Given the description of an element on the screen output the (x, y) to click on. 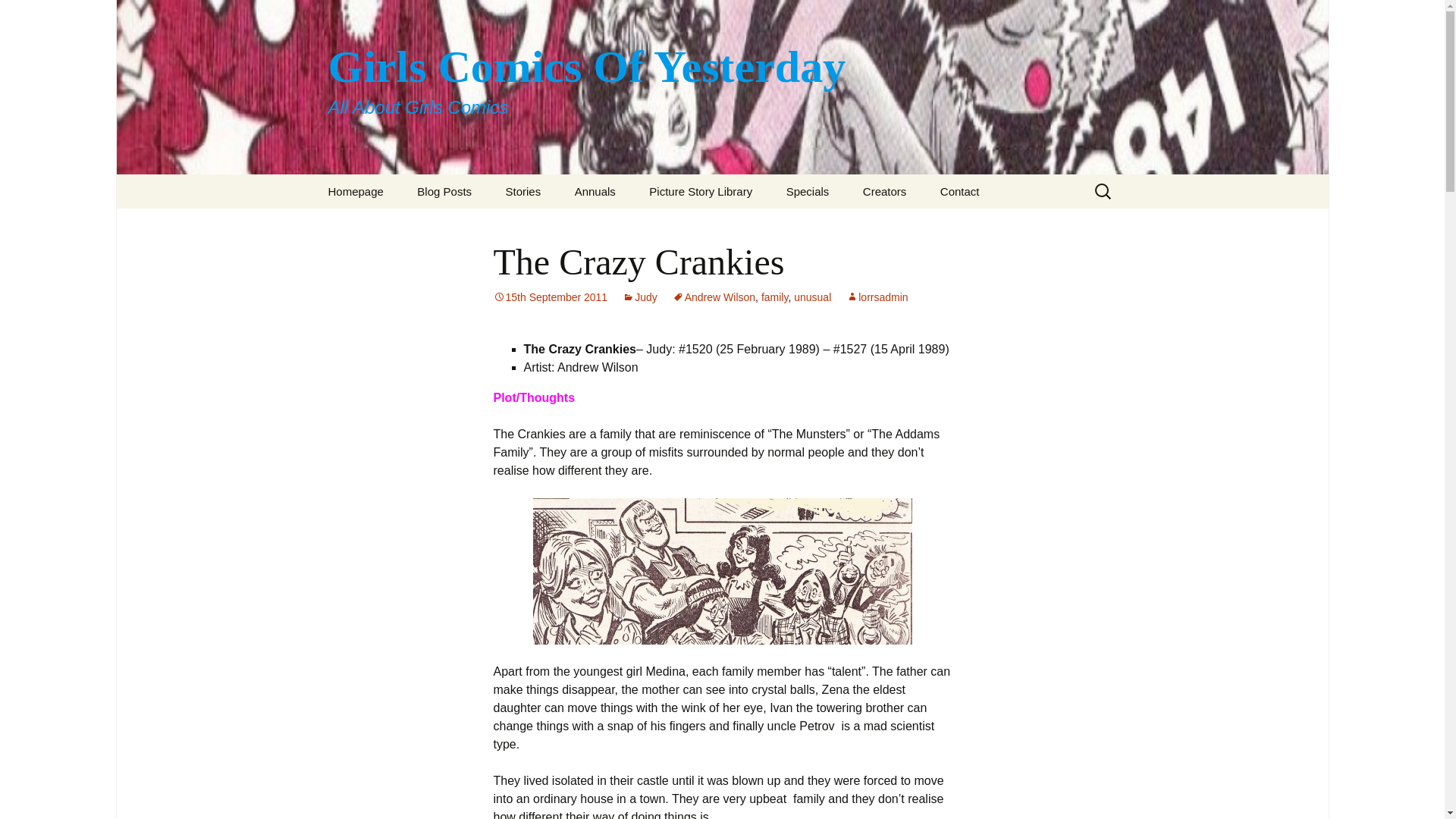
Bunty Annuals (635, 225)
Picture Story Library (700, 191)
Search (18, 15)
Creators (884, 191)
Contact (959, 191)
Bunty Stories (566, 225)
Blog Posts (443, 191)
View all posts by lorrsadmin (876, 297)
Specials (807, 191)
Homepage (355, 191)
Bunty Picture Story Library (709, 230)
15th September 2011 (550, 297)
Andrew Wilson (713, 297)
Judy (640, 297)
Permalink to The Crazy Crankies (550, 297)
